Given the description of an element on the screen output the (x, y) to click on. 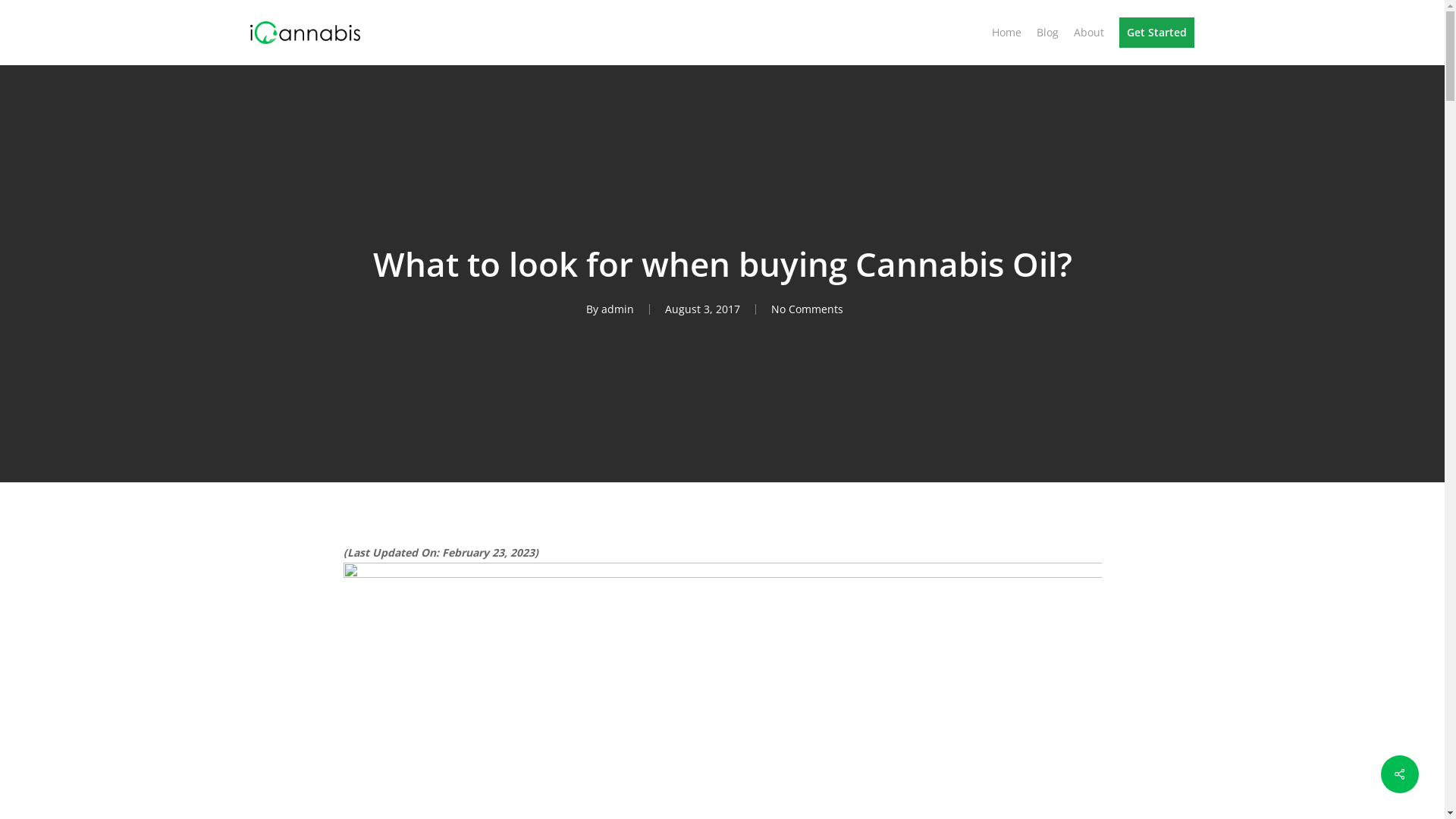
About Element type: text (1088, 32)
admin Element type: text (617, 308)
Blog Element type: text (1047, 32)
No Comments Element type: text (807, 308)
Home Element type: text (1006, 32)
Get Started Element type: text (1156, 32)
